Given the description of an element on the screen output the (x, y) to click on. 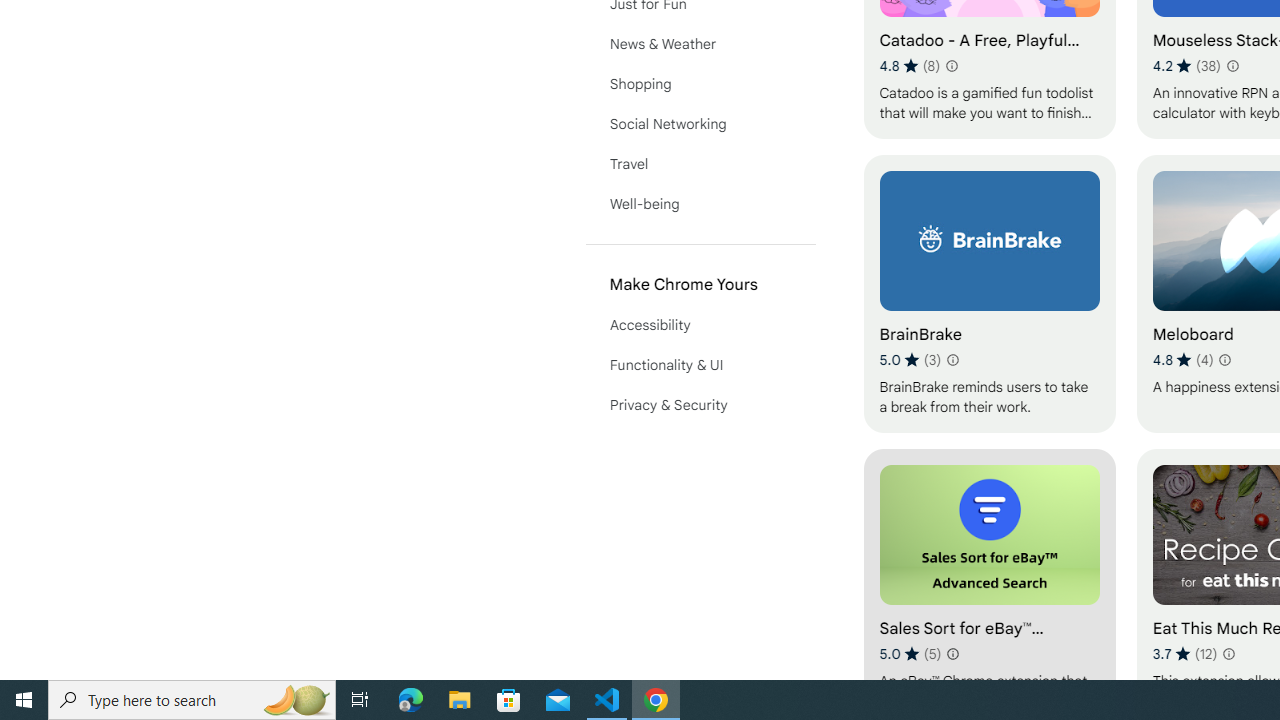
Privacy & Security (700, 404)
Average rating 5 out of 5 stars. 3 ratings. (910, 359)
Average rating 3.7 out of 5 stars. 12 ratings. (1185, 653)
Learn more about results and reviews "BrainBrake" (951, 359)
Average rating 4.2 out of 5 stars. 38 ratings. (1187, 66)
Average rating 5 out of 5 stars. 5 ratings. (910, 653)
